Given the description of an element on the screen output the (x, y) to click on. 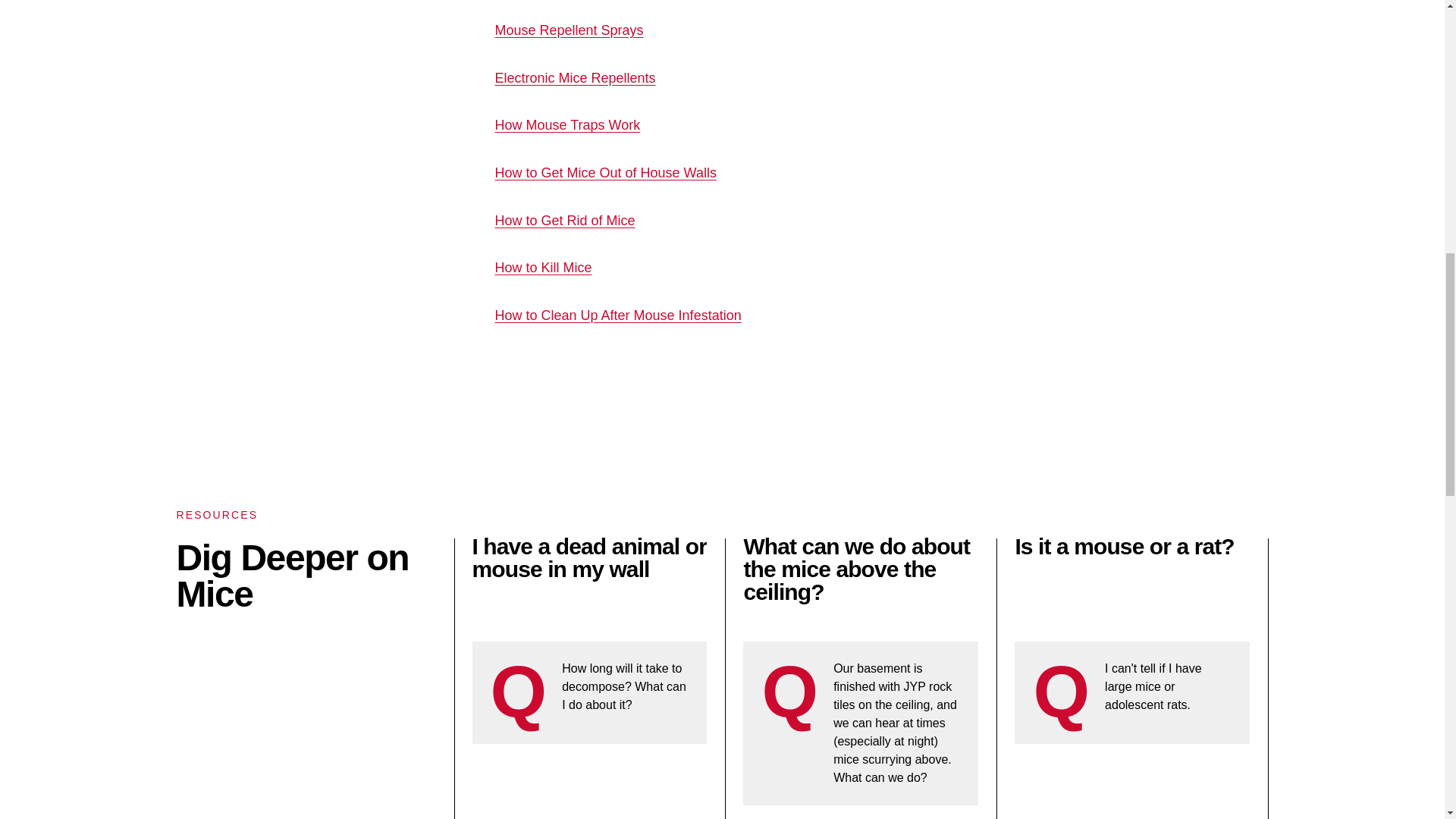
How Mouse Traps Work (567, 126)
How to Get Rid of Mice (564, 221)
Electronic Mice Repellents (574, 79)
How to Clean Up After Mouse Infestation (617, 316)
Mouse Repellent Sprays (569, 31)
How to Get Mice Out of House Walls (605, 174)
How to Kill Mice (542, 269)
